Given the description of an element on the screen output the (x, y) to click on. 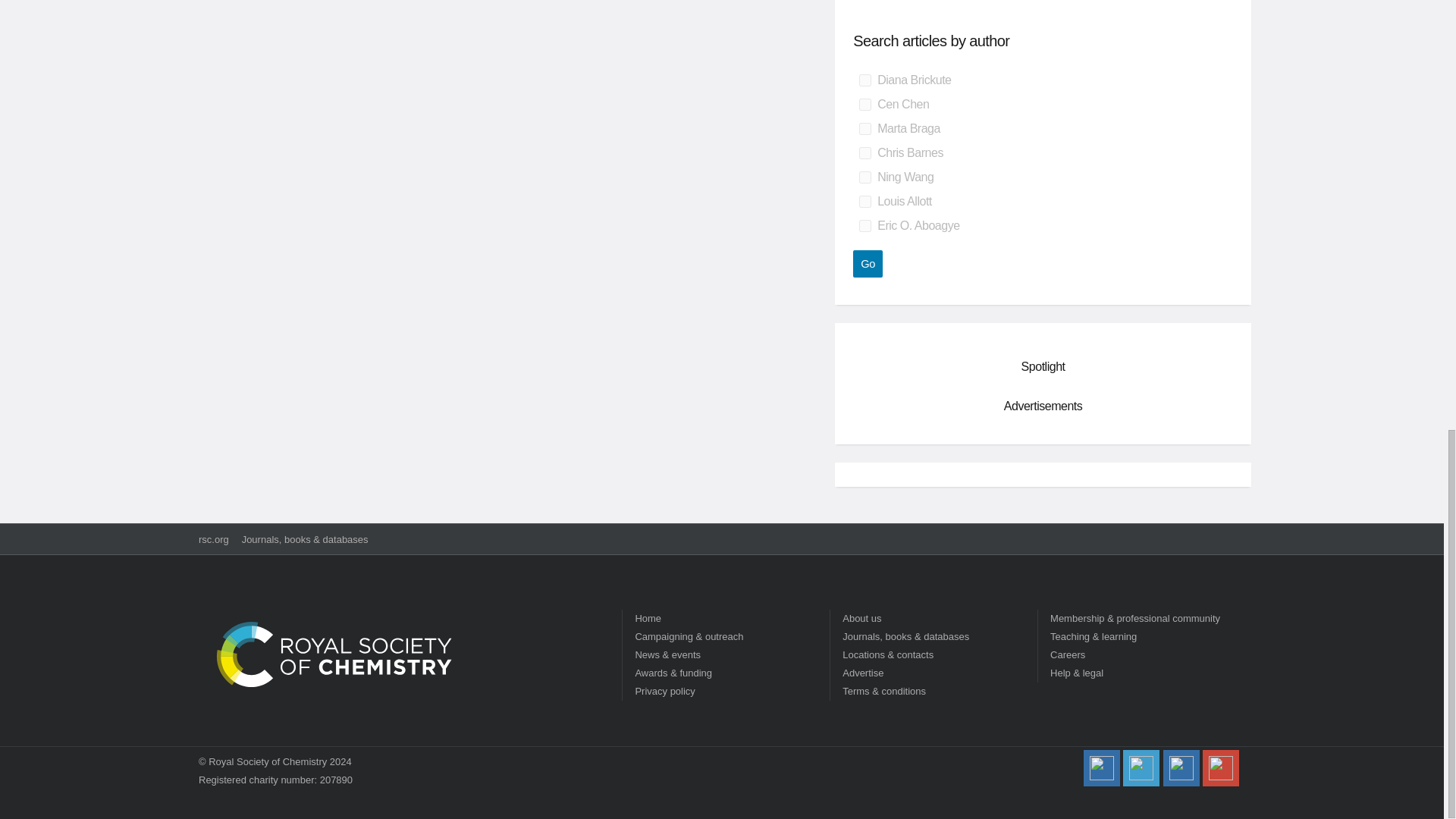
on (864, 225)
Go (867, 263)
on (864, 177)
on (864, 152)
Go (867, 263)
on (864, 201)
on (864, 104)
on (864, 80)
on (864, 128)
